Given the description of an element on the screen output the (x, y) to click on. 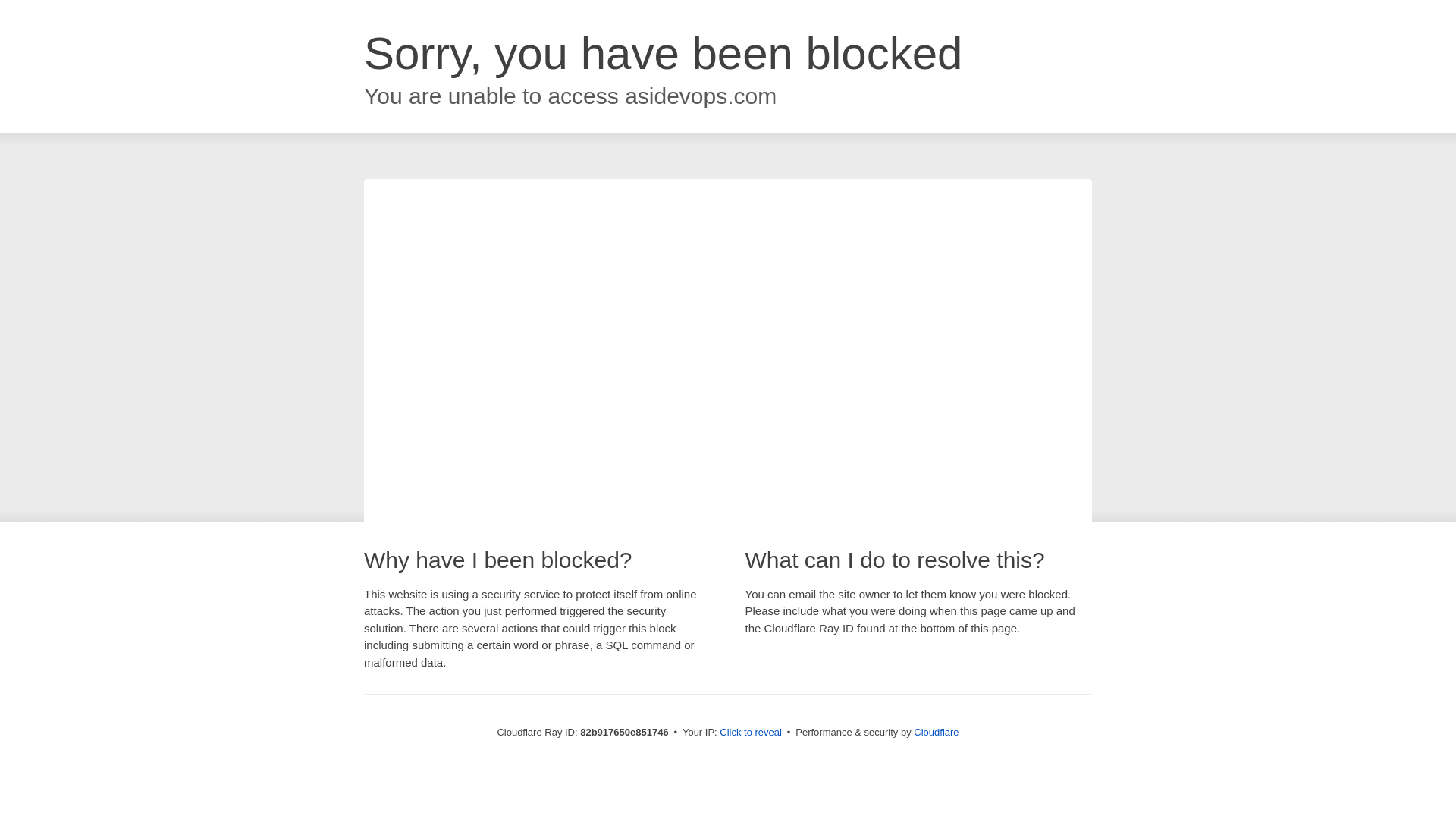
Click to reveal Element type: text (750, 732)
Cloudflare Element type: text (935, 731)
